Given the description of an element on the screen output the (x, y) to click on. 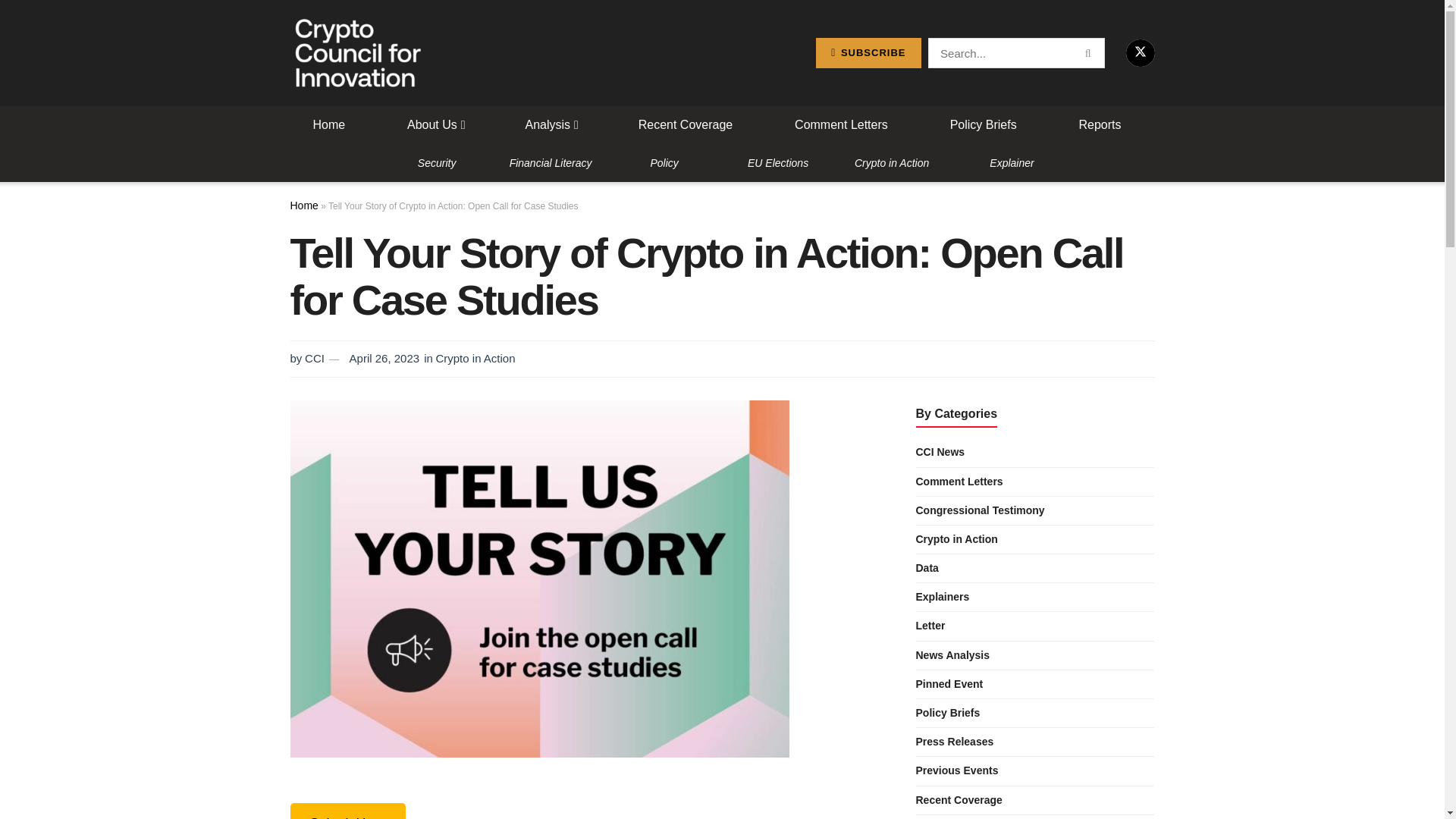
Comment Letters (841, 125)
Policy Briefs (983, 125)
Explainer (1011, 162)
Security (437, 162)
SUBSCRIBE (867, 52)
EU Elections (778, 162)
About Us (435, 125)
Home (328, 125)
Reports (1100, 125)
Recent Coverage (685, 125)
Policy (664, 162)
Crypto in Action (891, 162)
Financial Literacy (550, 162)
Analysis (550, 125)
